Given the description of an element on the screen output the (x, y) to click on. 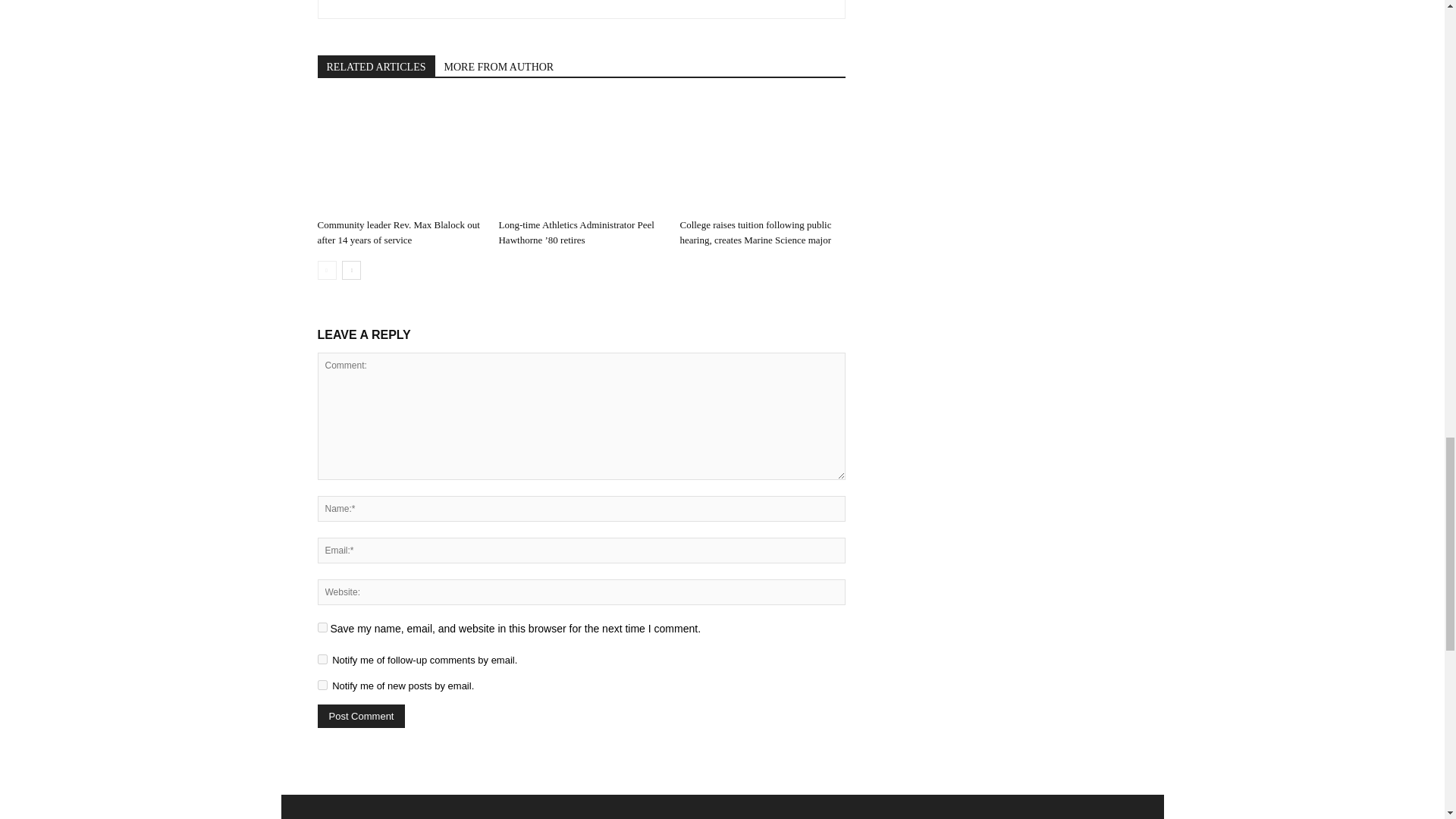
yes (321, 627)
subscribe (321, 659)
Post Comment (360, 716)
subscribe (321, 685)
